Given the description of an element on the screen output the (x, y) to click on. 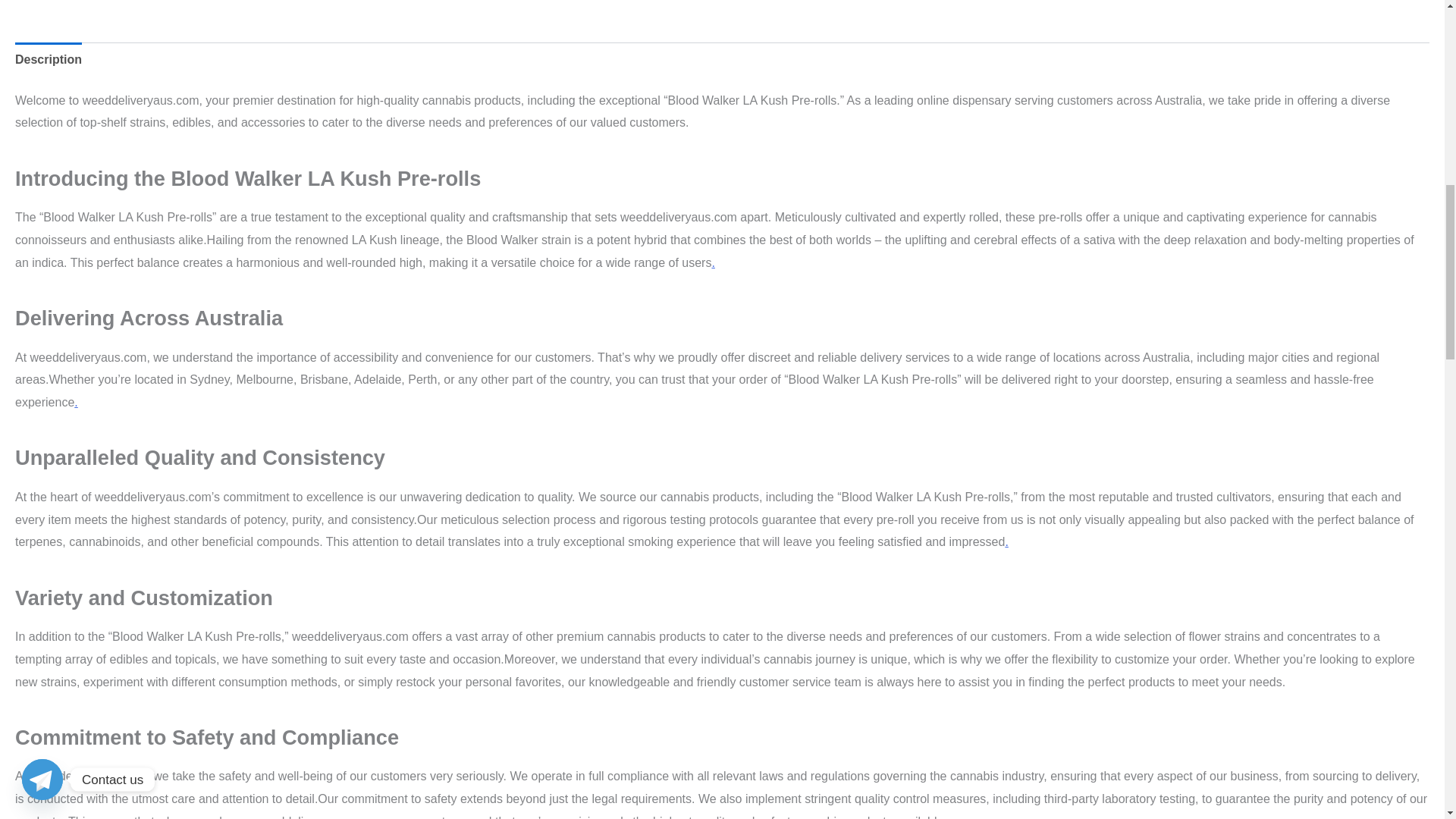
Description (47, 59)
